Given the description of an element on the screen output the (x, y) to click on. 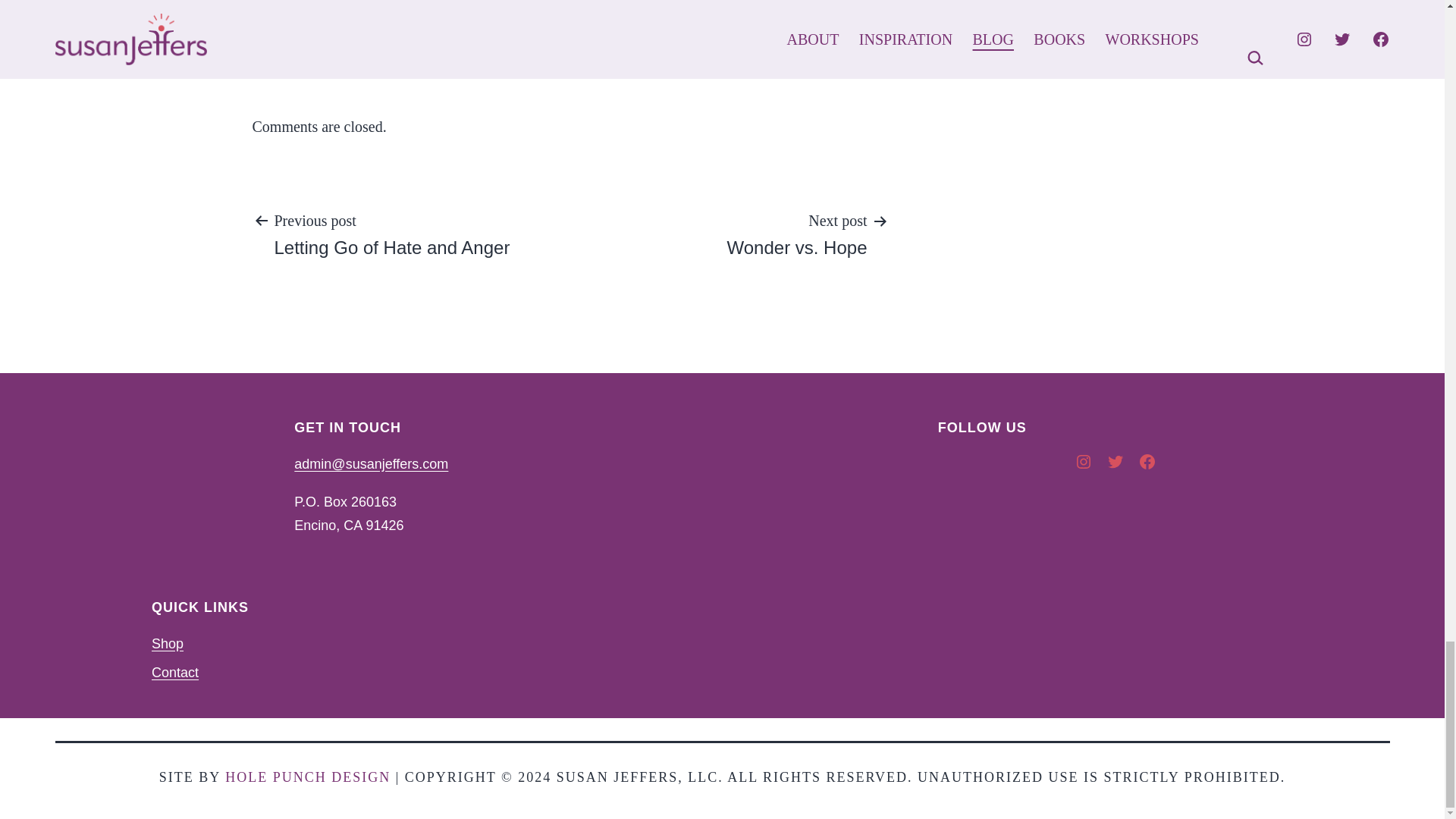
June 30, 2022 at 9:11 pm (391, 233)
